Given the description of an element on the screen output the (x, y) to click on. 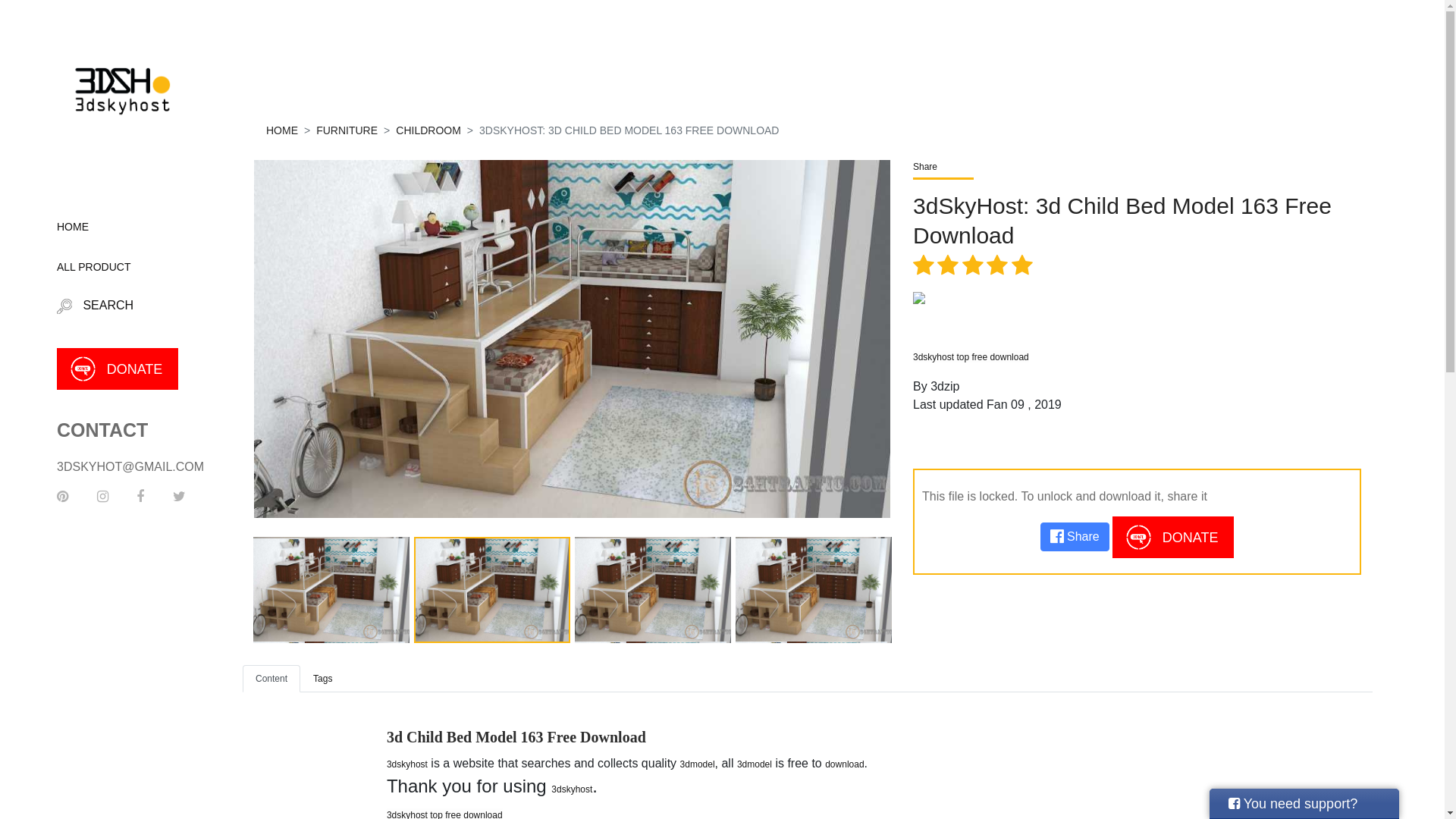
Share Element type: text (1137, 166)
HOME Element type: text (282, 130)
5 Element type: text (60, 20)
FURNITURE Element type: text (346, 130)
HOME Element type: text (120, 227)
3dskyhost Element type: text (406, 764)
Tags Element type: text (322, 678)
Content Element type: text (271, 678)
3dSkyHost: 3d Child Bed Model 163 Free Download Element type: text (1137, 220)
3dmodel Element type: text (697, 764)
 Share Element type: text (1074, 536)
SEARCH Element type: text (120, 306)
ALL PRODUCT Element type: text (120, 267)
DONATE Element type: text (1172, 537)
DONATE Element type: text (117, 368)
3dskyhost top free download Element type: text (971, 356)
3DSKYHOT@GMAIL.COM Element type: text (129, 466)
download Element type: text (844, 764)
3dskyhost Element type: text (571, 789)
3dmodel Element type: text (754, 764)
CHILDROOM Element type: text (428, 130)
